Given the description of an element on the screen output the (x, y) to click on. 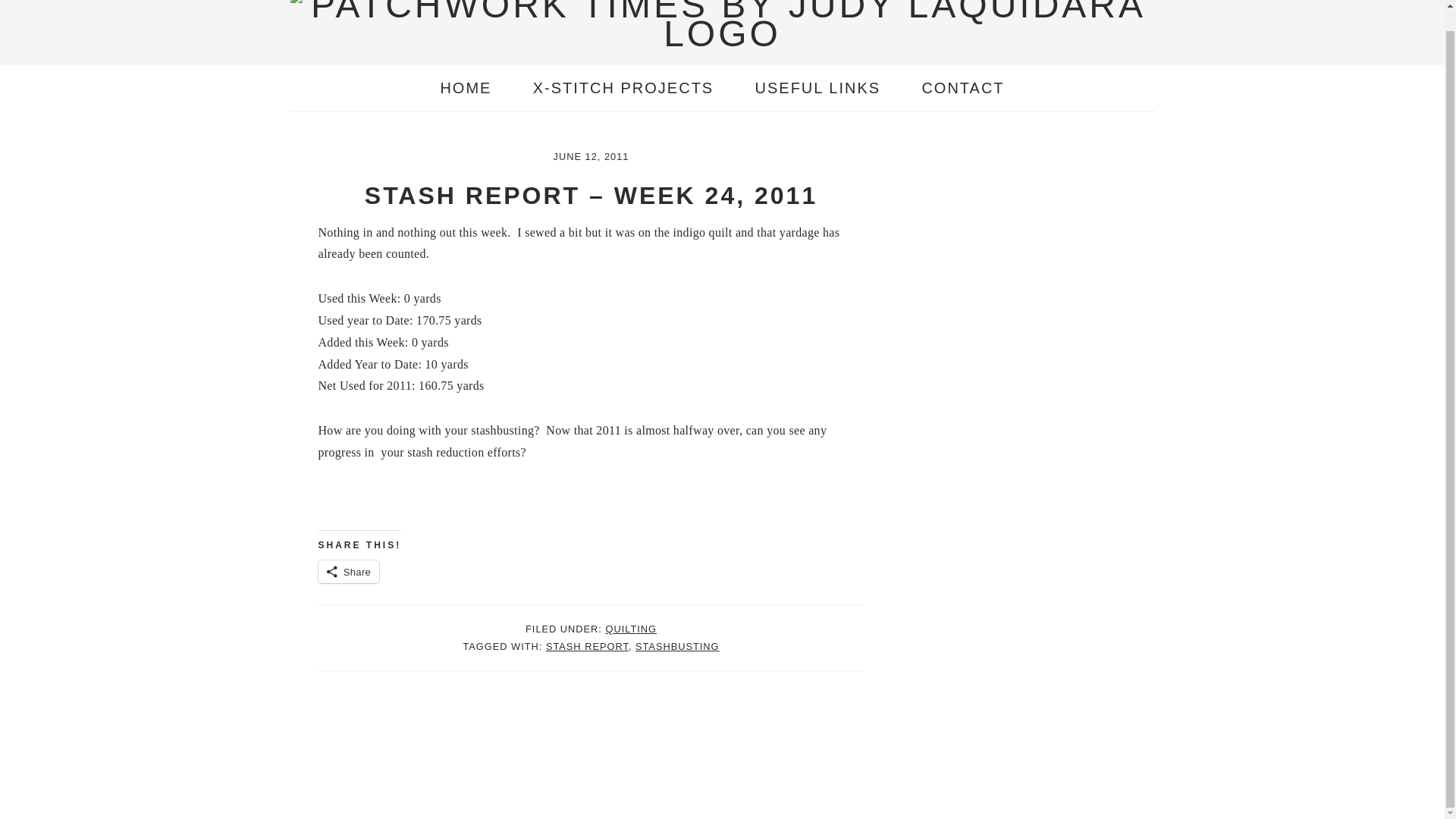
Patchwork Times by Judy Laquidara (721, 33)
Share (349, 571)
STASHBUSTING (676, 645)
Patchwork Times by Judy Laquidara (721, 24)
HOME (465, 87)
QUILTING (630, 628)
STASH REPORT (587, 645)
X-STITCH PROJECTS (622, 87)
USEFUL LINKS (817, 87)
CONTACT (962, 87)
